Given the description of an element on the screen output the (x, y) to click on. 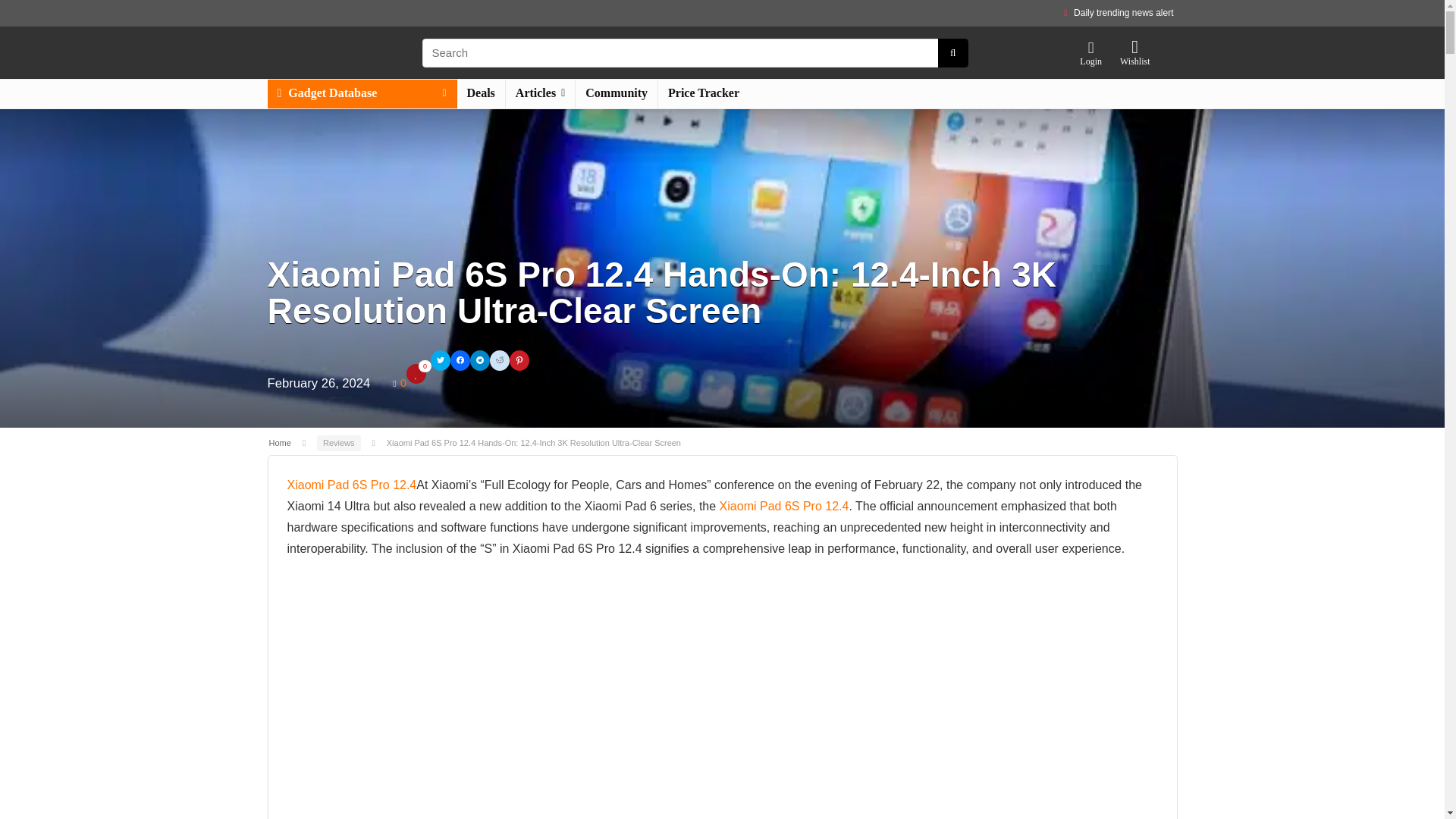
Click to share on Reddit (499, 360)
Click to share on Telegram (479, 360)
Click to share on Twitter (439, 360)
Daily trending news alert (1123, 12)
Click to share on Pinterest (519, 360)
Click to share on Facebook (459, 360)
Gadget Database (360, 93)
